Given the description of an element on the screen output the (x, y) to click on. 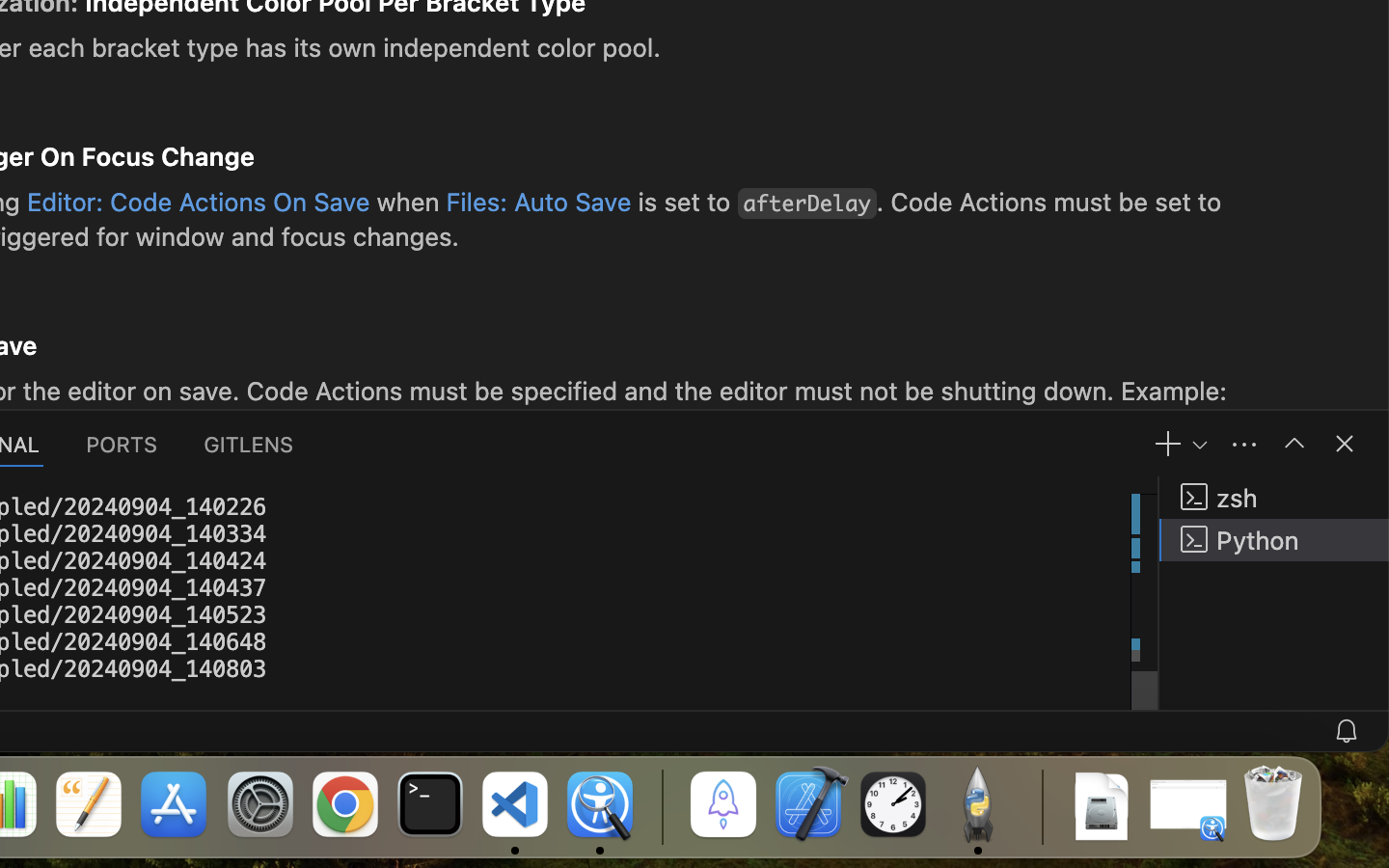
zsh  Element type: AXGroup (1274, 497)
0 GITLENS Element type: AXRadioButton (249, 443)
. Code Actions must be set to Element type: AXStaticText (1049, 201)
when Element type: AXStaticText (408, 201)
 Element type: AXCheckBox (1294, 443)
